Given the description of an element on the screen output the (x, y) to click on. 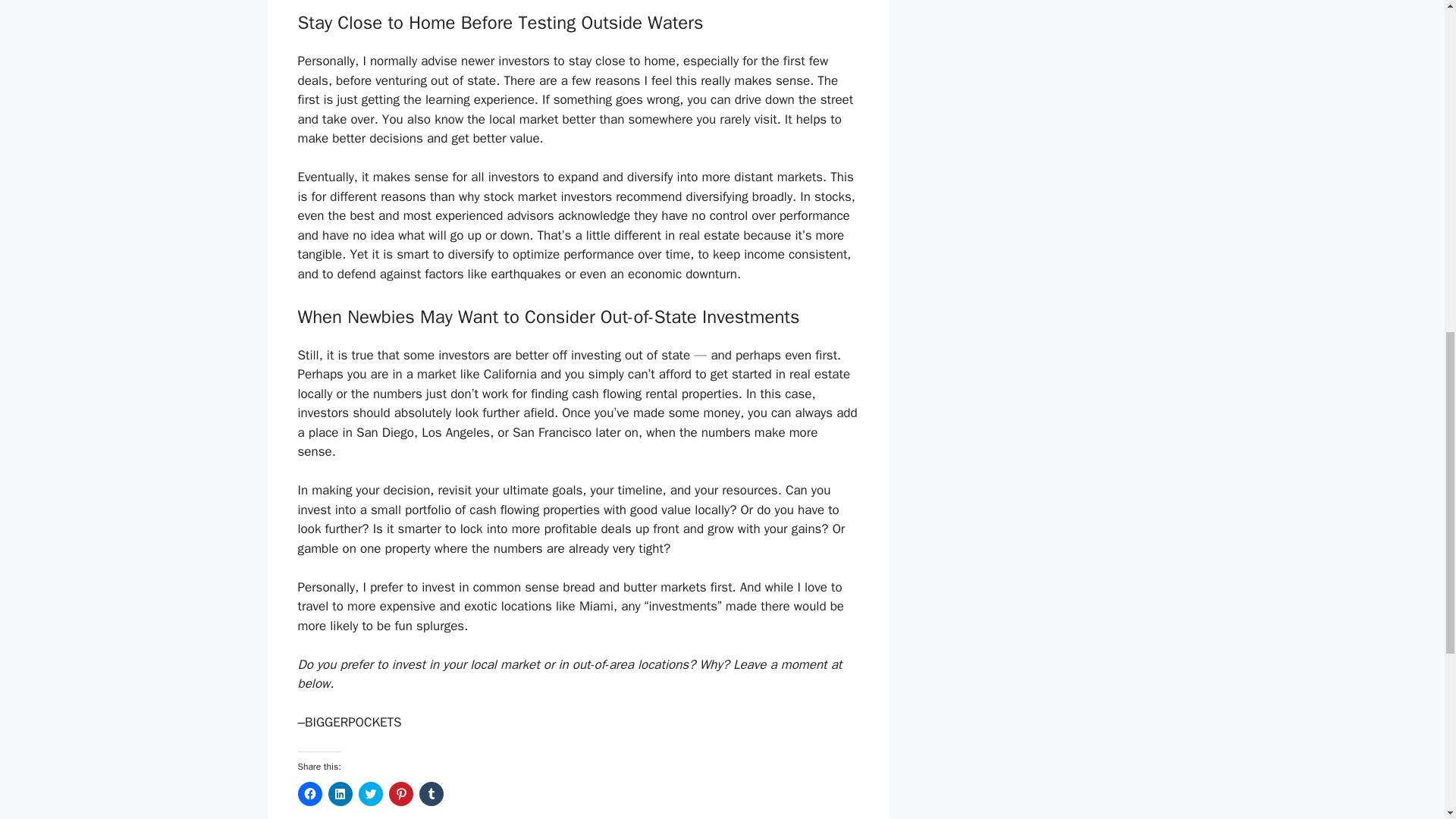
Click to share on LinkedIn (339, 793)
Click to share on Pinterest (400, 793)
Click to share on Tumblr (430, 793)
Click to share on Facebook (309, 793)
Click to share on Twitter (369, 793)
